Given the description of an element on the screen output the (x, y) to click on. 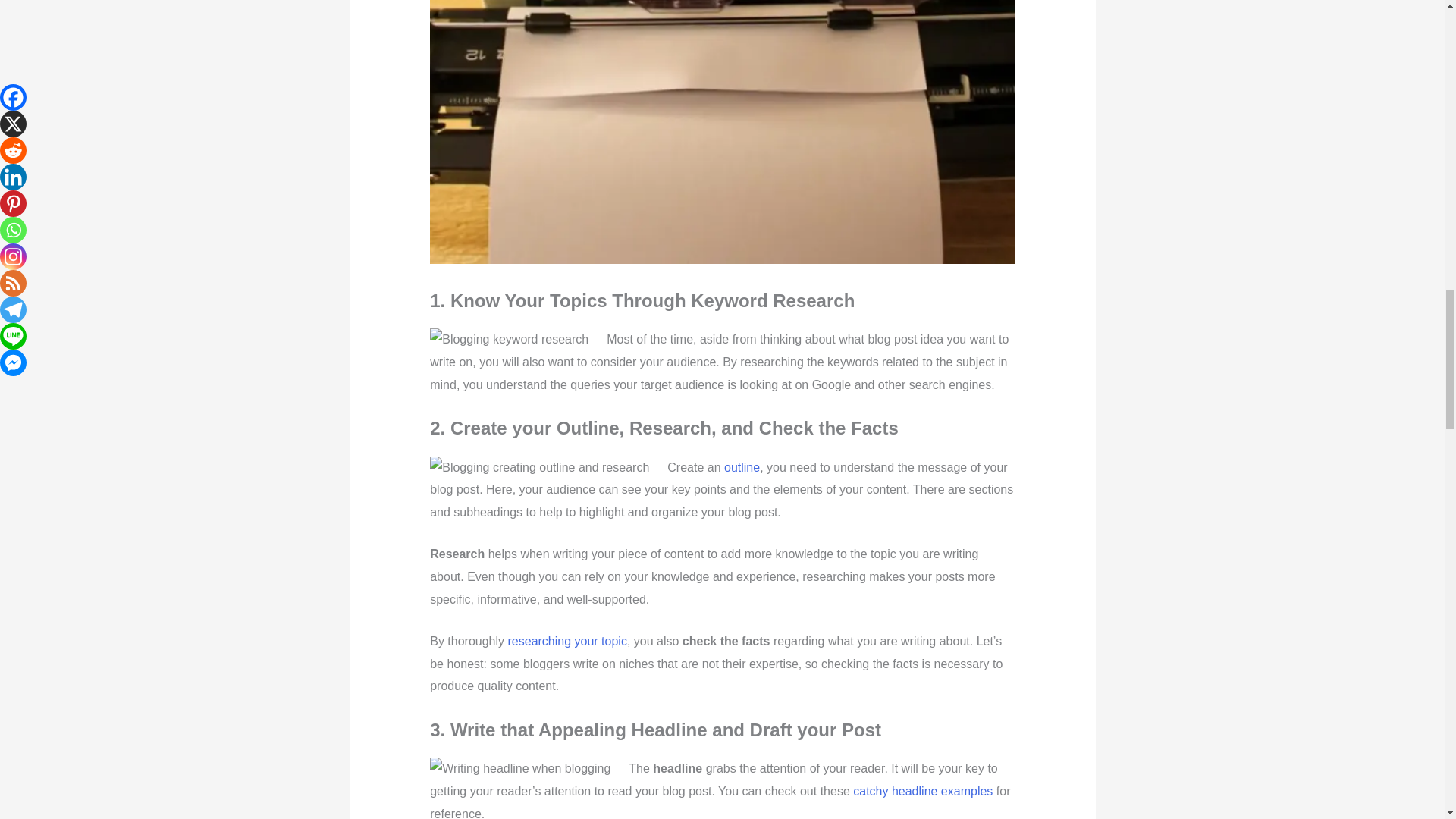
catchy headline examples (922, 790)
researching your topic (567, 640)
outline (741, 467)
